Given the description of an element on the screen output the (x, y) to click on. 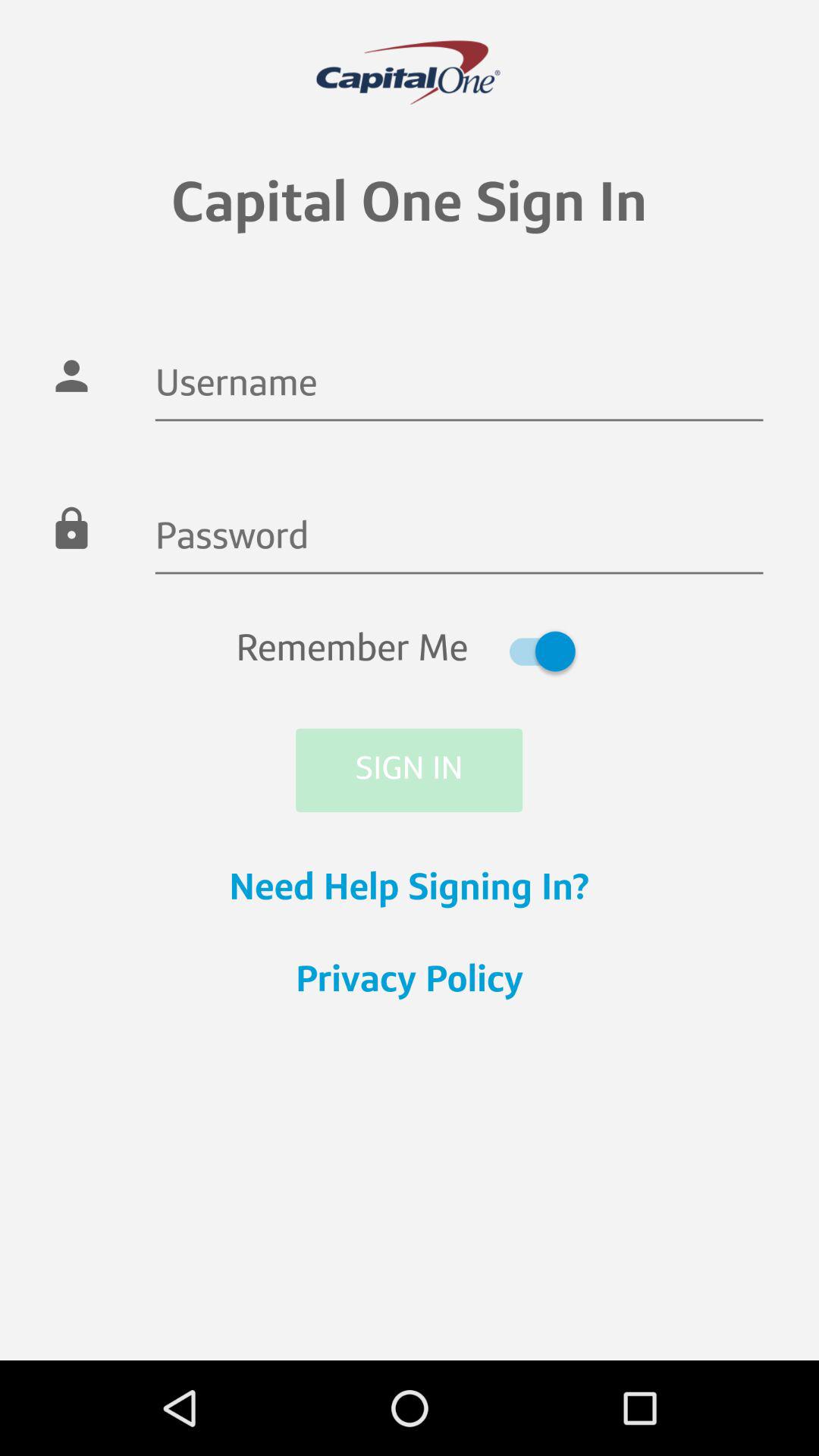
select need help signing icon (409, 889)
